Given the description of an element on the screen output the (x, y) to click on. 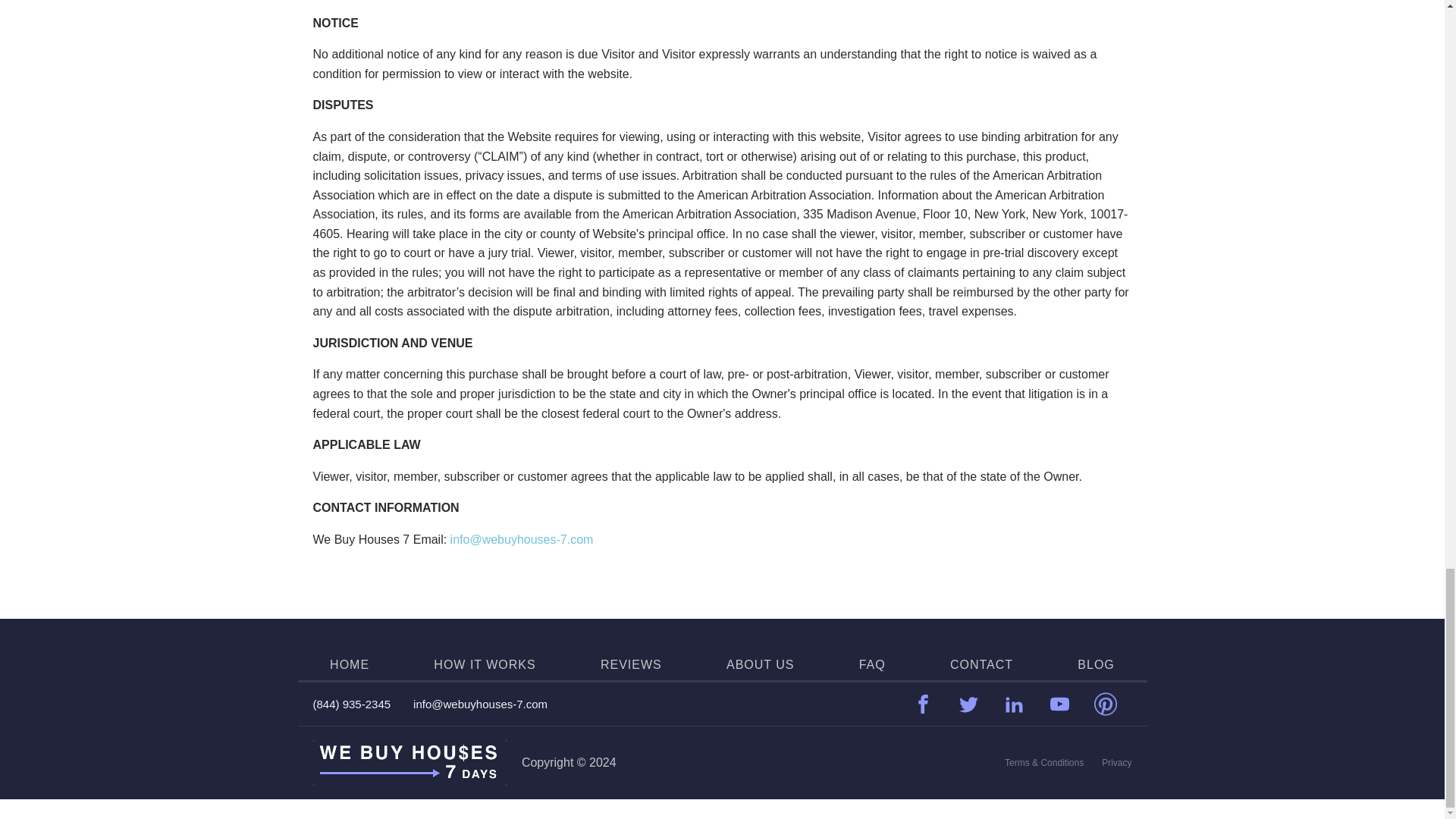
FAQ (872, 664)
ABOUT US (760, 664)
Privacy (1116, 762)
HOW IT WORKS (484, 664)
BLOG (1095, 664)
REVIEWS (630, 664)
CONTACT (981, 664)
HOME (349, 664)
